Given the description of an element on the screen output the (x, y) to click on. 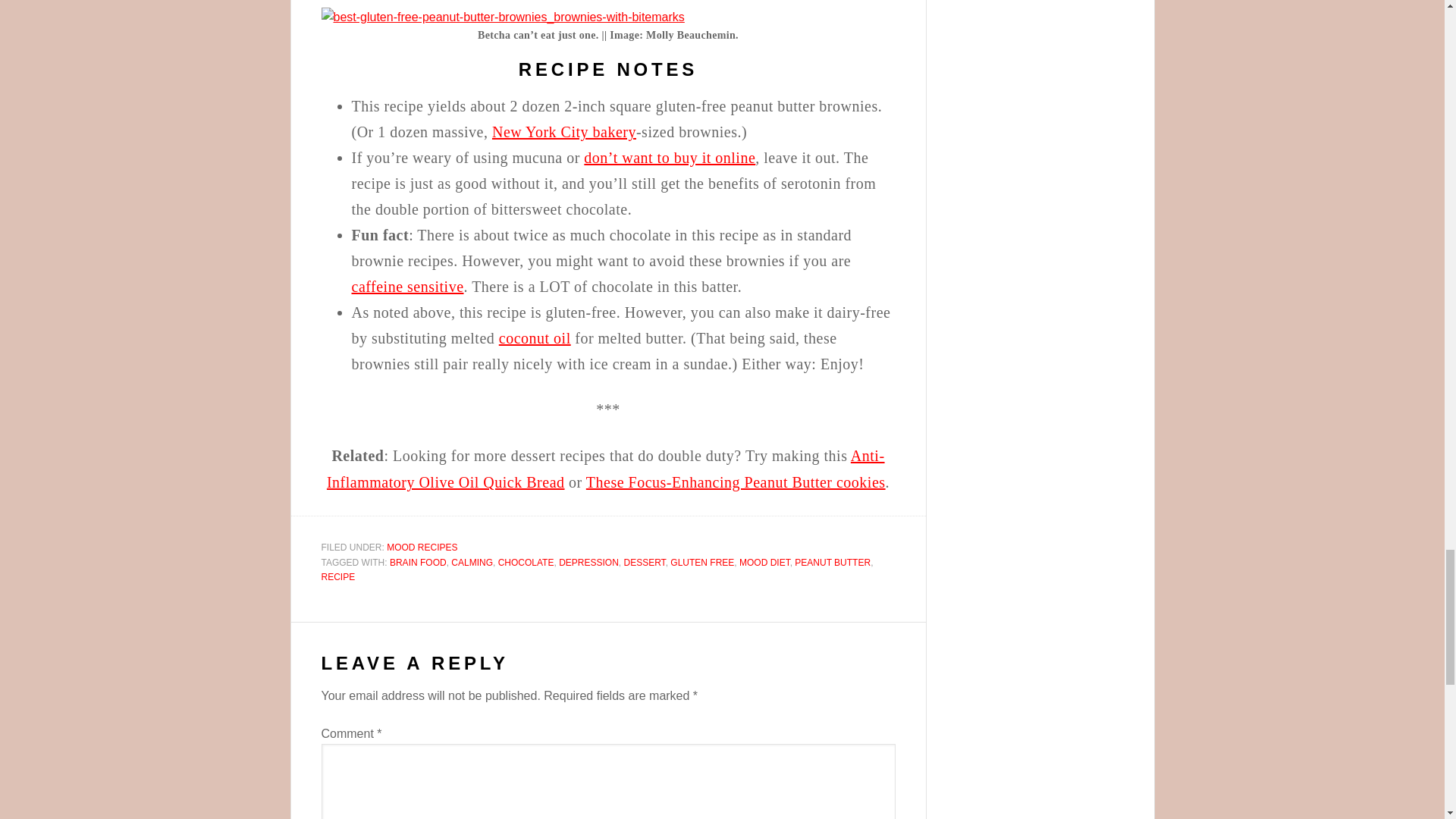
coconut oil (534, 338)
CHOCOLATE (525, 562)
DESSERT (644, 562)
MOOD RECIPES (422, 547)
New York City bakery (564, 131)
CALMING (472, 562)
BRAIN FOOD (418, 562)
These Focus-Enhancing Peanut Butter cookies (735, 482)
GLUTEN FREE (701, 562)
MOOD DIET (764, 562)
